Given the description of an element on the screen output the (x, y) to click on. 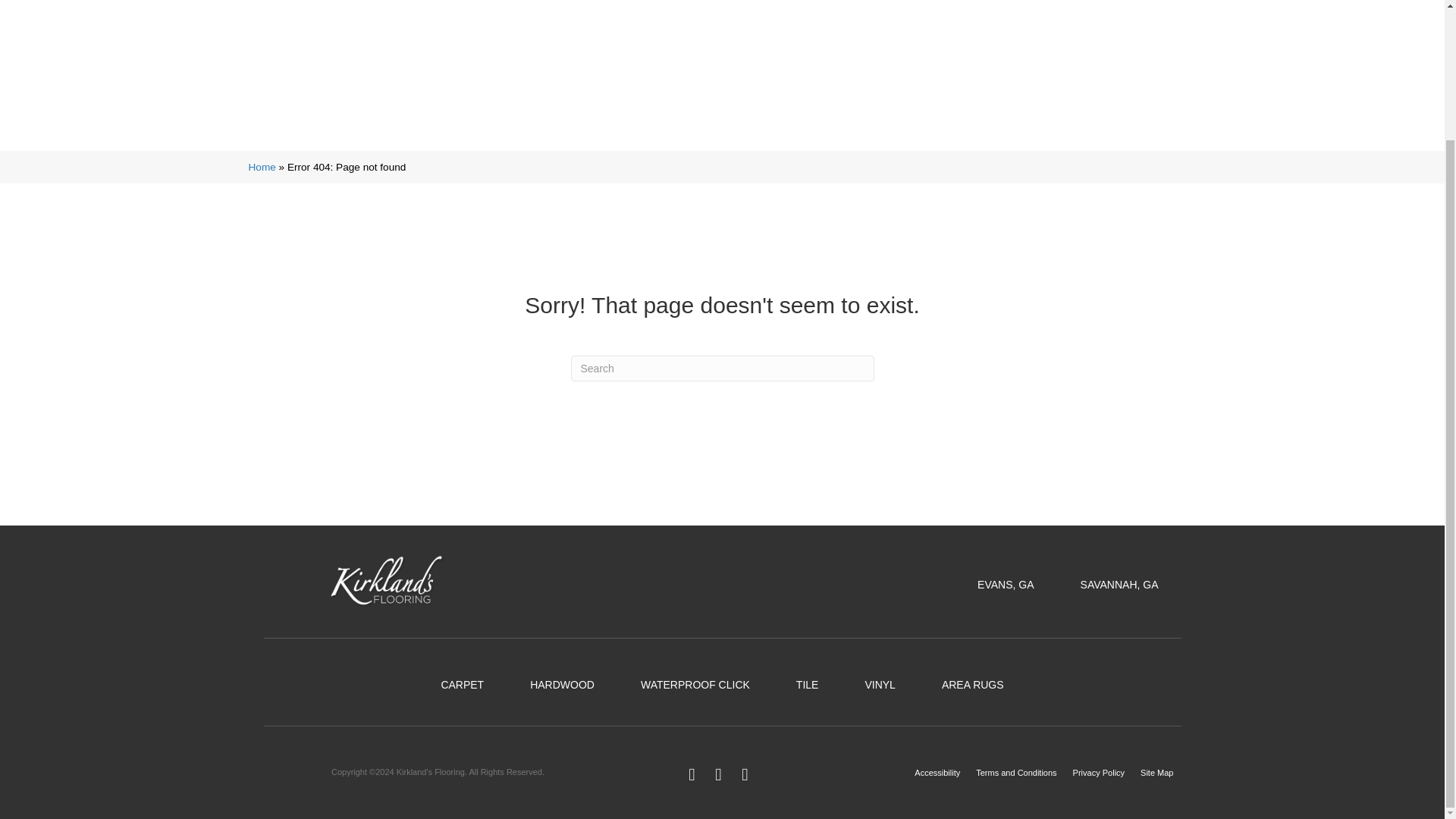
Type and press Enter to search. (721, 368)
whitelogodrop2 (387, 581)
